Given the description of an element on the screen output the (x, y) to click on. 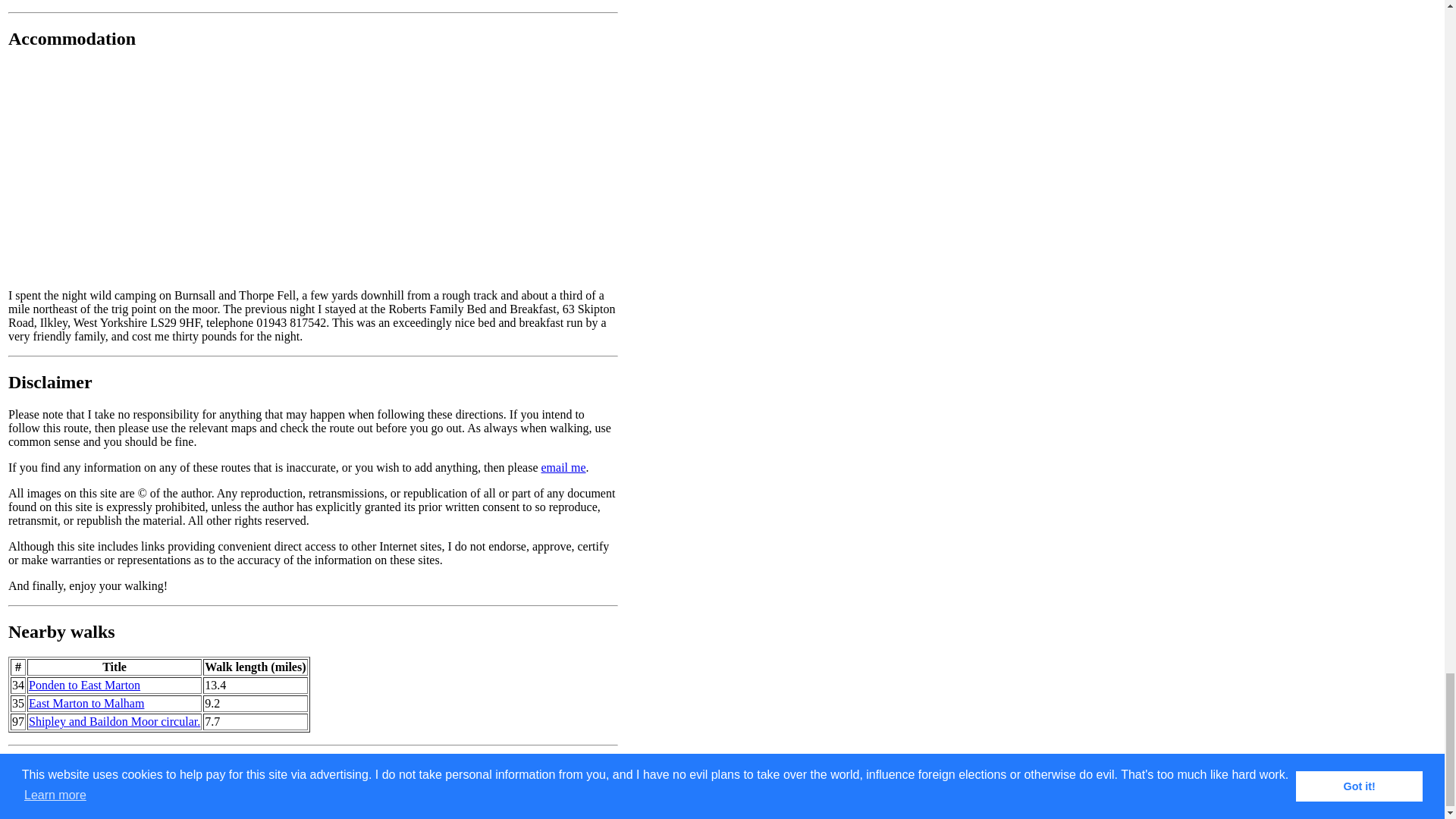
 Previous walk (53, 765)
East Marton to Malham (86, 703)
Ponden to East Marton (84, 684)
email me (562, 467)
 Next walk (137, 765)
Shipley and Baildon Moor circular. (114, 721)
